Given the description of an element on the screen output the (x, y) to click on. 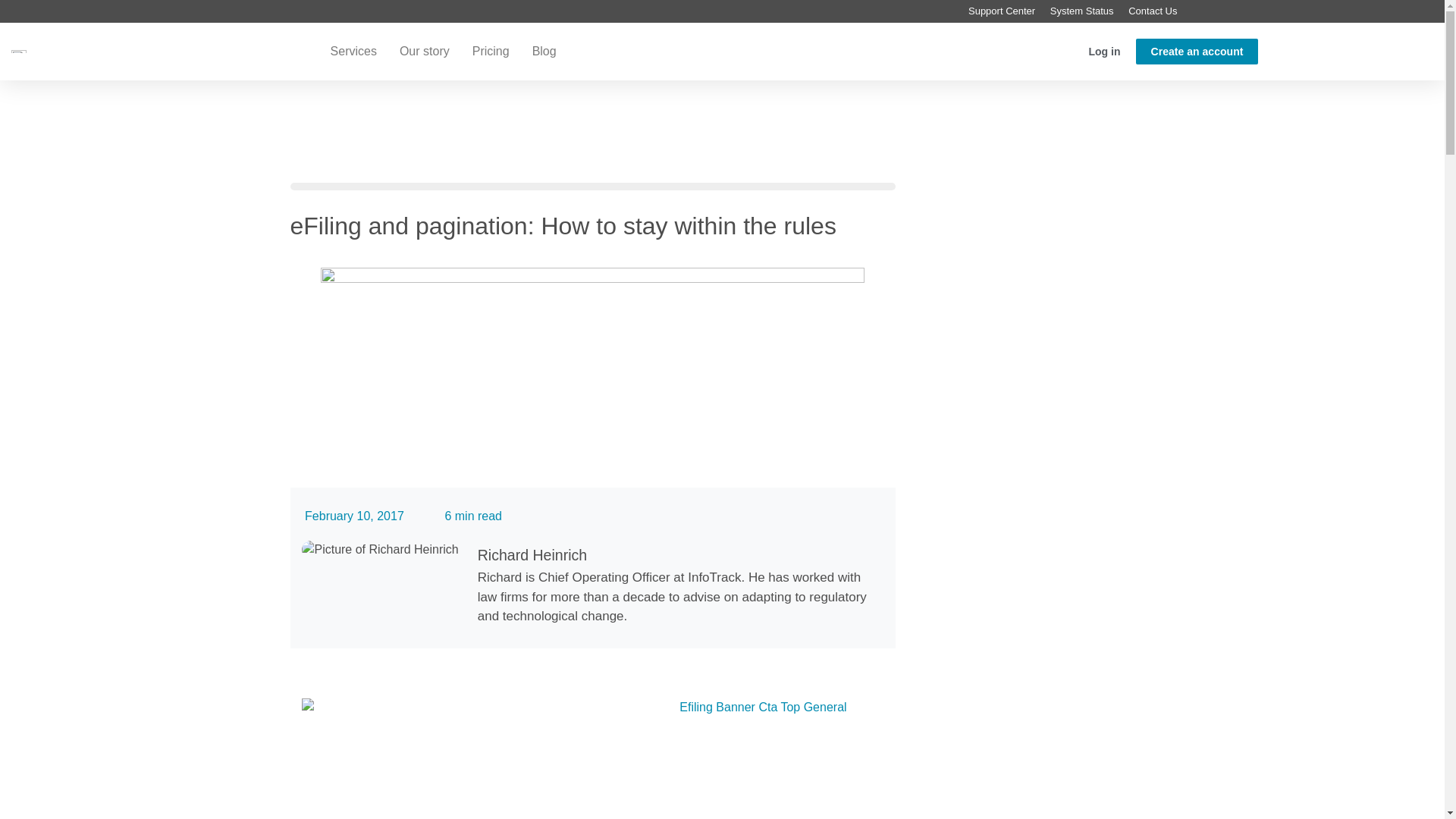
Log in (1104, 50)
Services (353, 50)
February 10, 2017 (352, 515)
System Status (1093, 11)
Blog (544, 50)
Pricing (491, 50)
Create an account (1197, 50)
Contact Us (1164, 11)
Support Center (1013, 11)
Our story (424, 50)
